Given the description of an element on the screen output the (x, y) to click on. 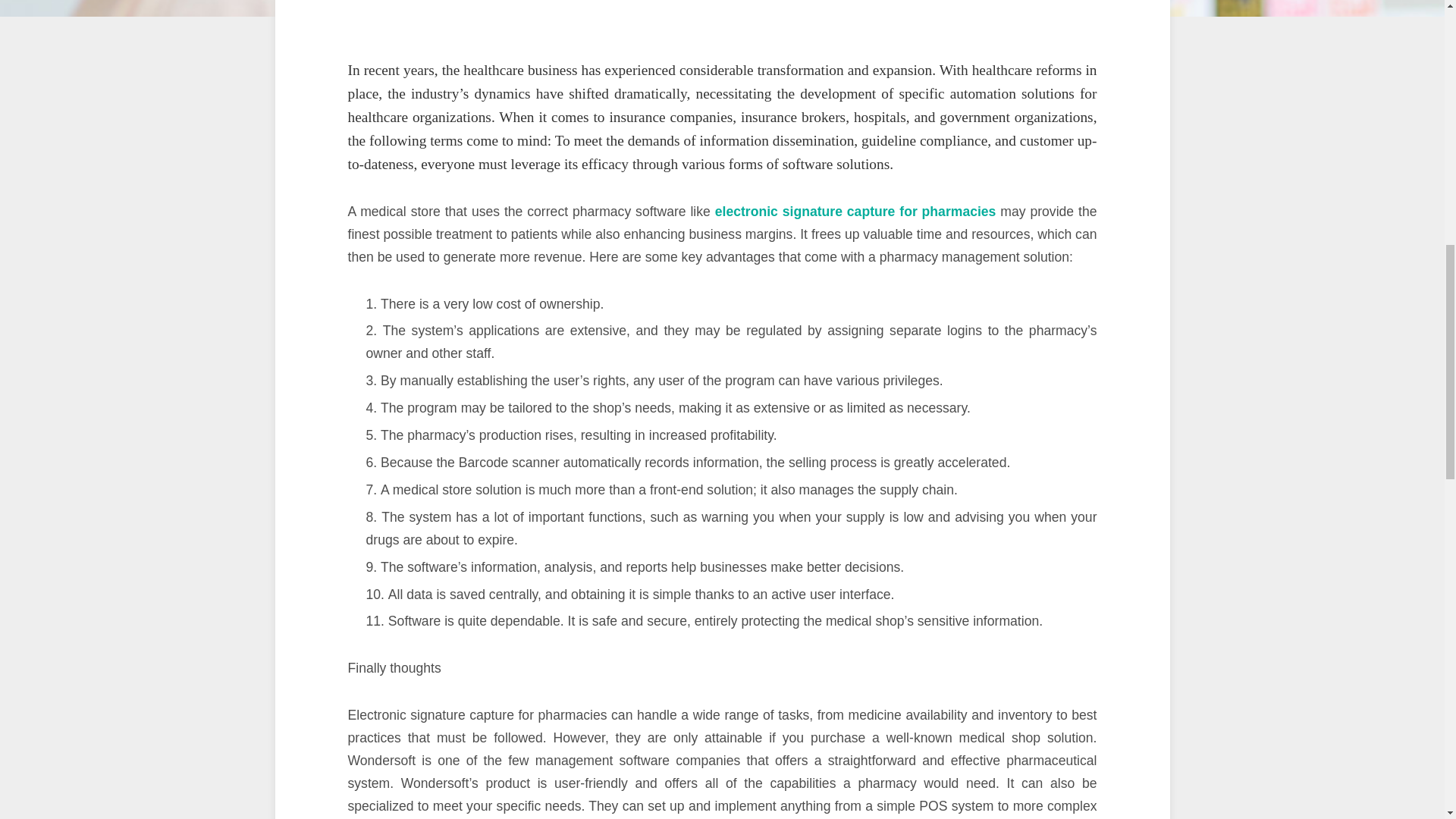
electronic signature capture for pharmacies (854, 211)
